Given the description of an element on the screen output the (x, y) to click on. 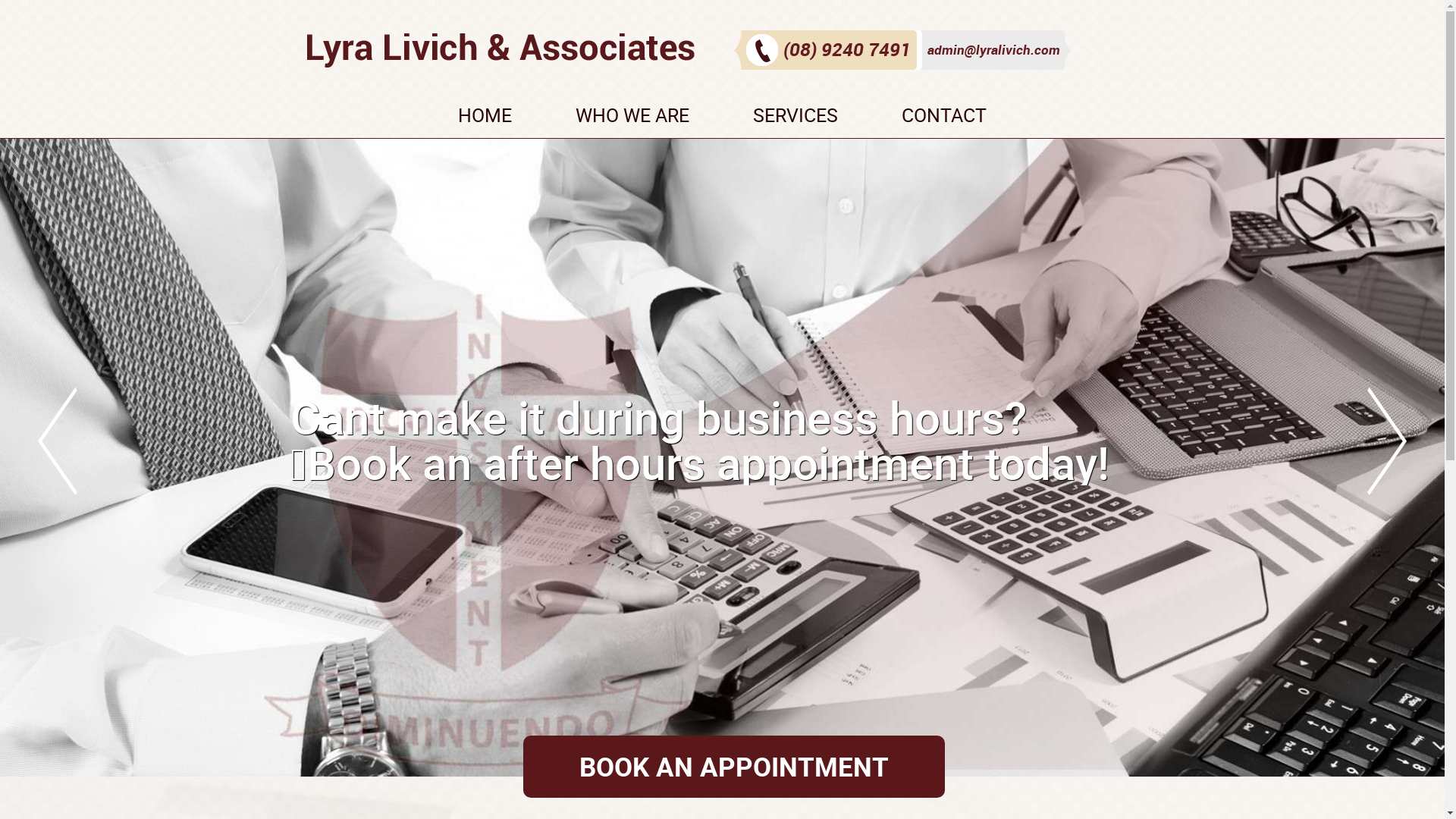
Previous Element type: text (57, 440)
(08) 9240 7491 Element type: text (831, 47)
CONTACT Element type: text (943, 119)
BOOK AN APPOINTMENT Element type: text (733, 766)
SERVICES Element type: text (795, 119)
HOME Element type: text (484, 119)
Lyra Livich Element type: hover (500, 49)
Next Element type: text (1386, 440)
admin@lyralivich.com Element type: text (991, 49)
WHO WE ARE Element type: text (632, 119)
